Given the description of an element on the screen output the (x, y) to click on. 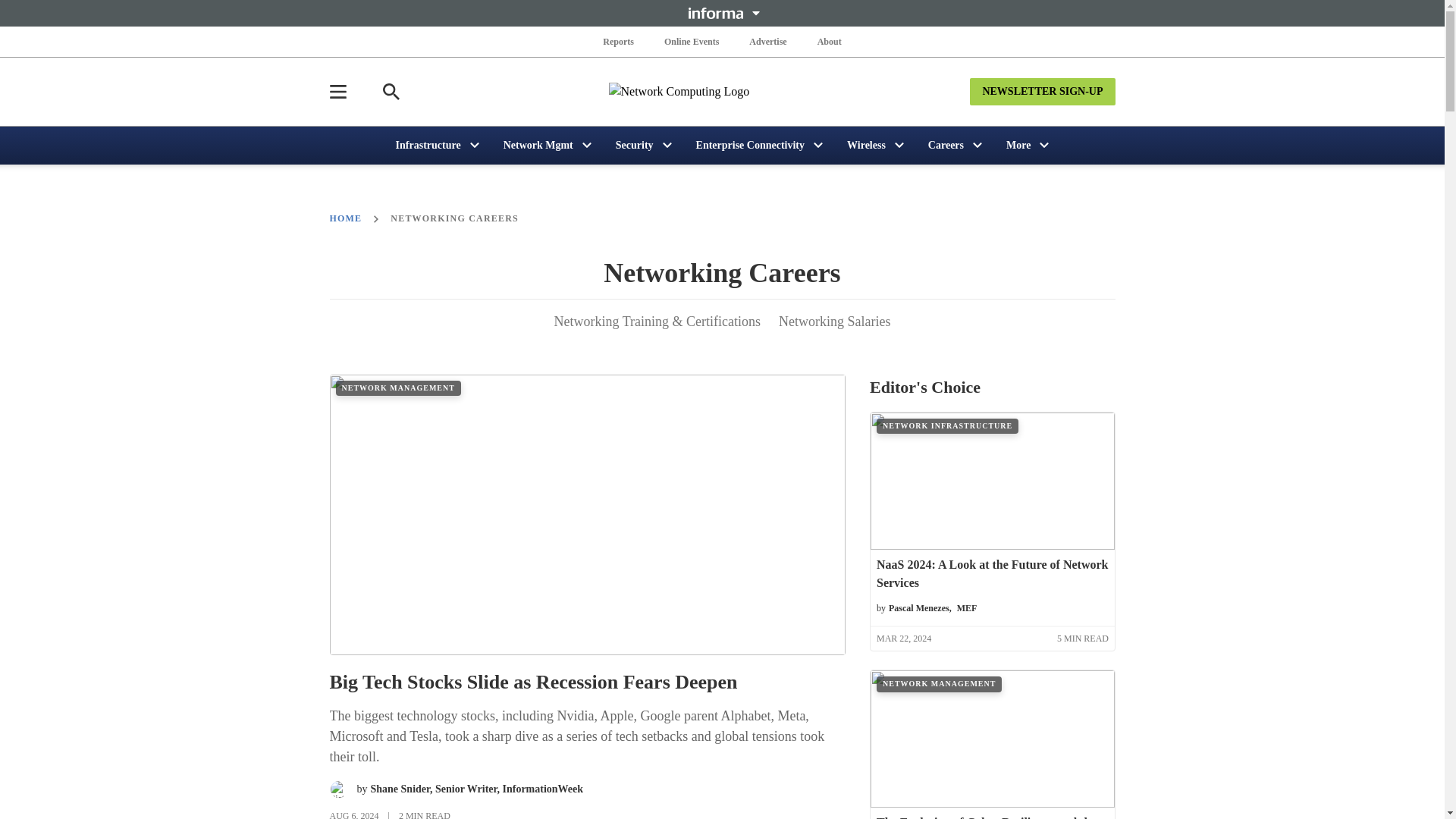
Network Computing Logo (721, 91)
Picture of Shane Snider, Senior Writer, InformationWeek (338, 789)
Online Events (691, 41)
NEWSLETTER SIGN-UP (1042, 90)
About (828, 41)
Reports (618, 41)
Advertise (767, 41)
